Given the description of an element on the screen output the (x, y) to click on. 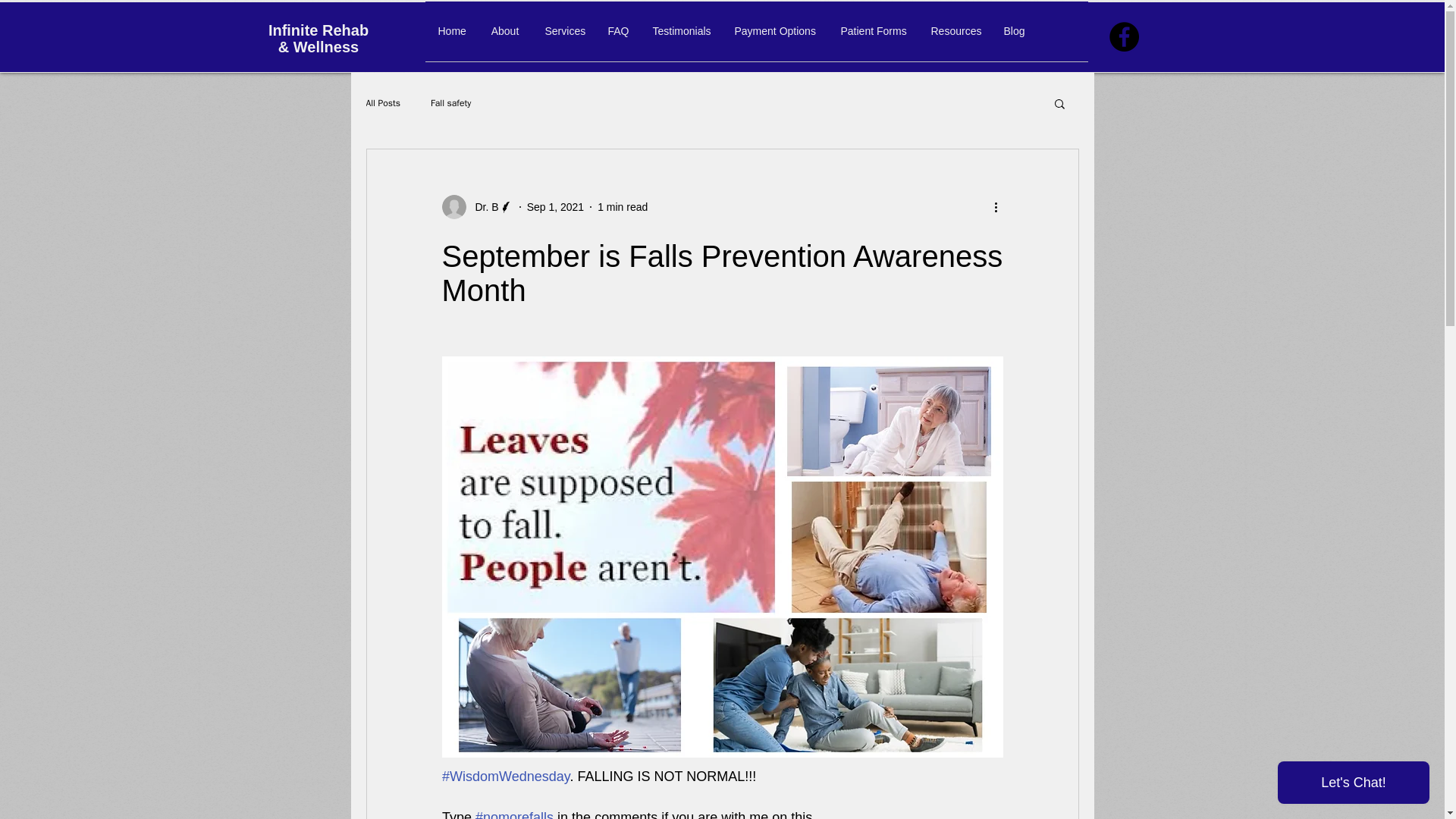
Dr. B  (481, 206)
1 min read (621, 205)
Testimonials (681, 36)
Payment Options (775, 36)
Resources (953, 36)
Dr. B (476, 206)
Services (563, 36)
Infinite Rehab (317, 30)
All Posts (382, 103)
Fall safety (450, 103)
Patient Forms (873, 36)
Sep 1, 2021 (556, 205)
